Given the description of an element on the screen output the (x, y) to click on. 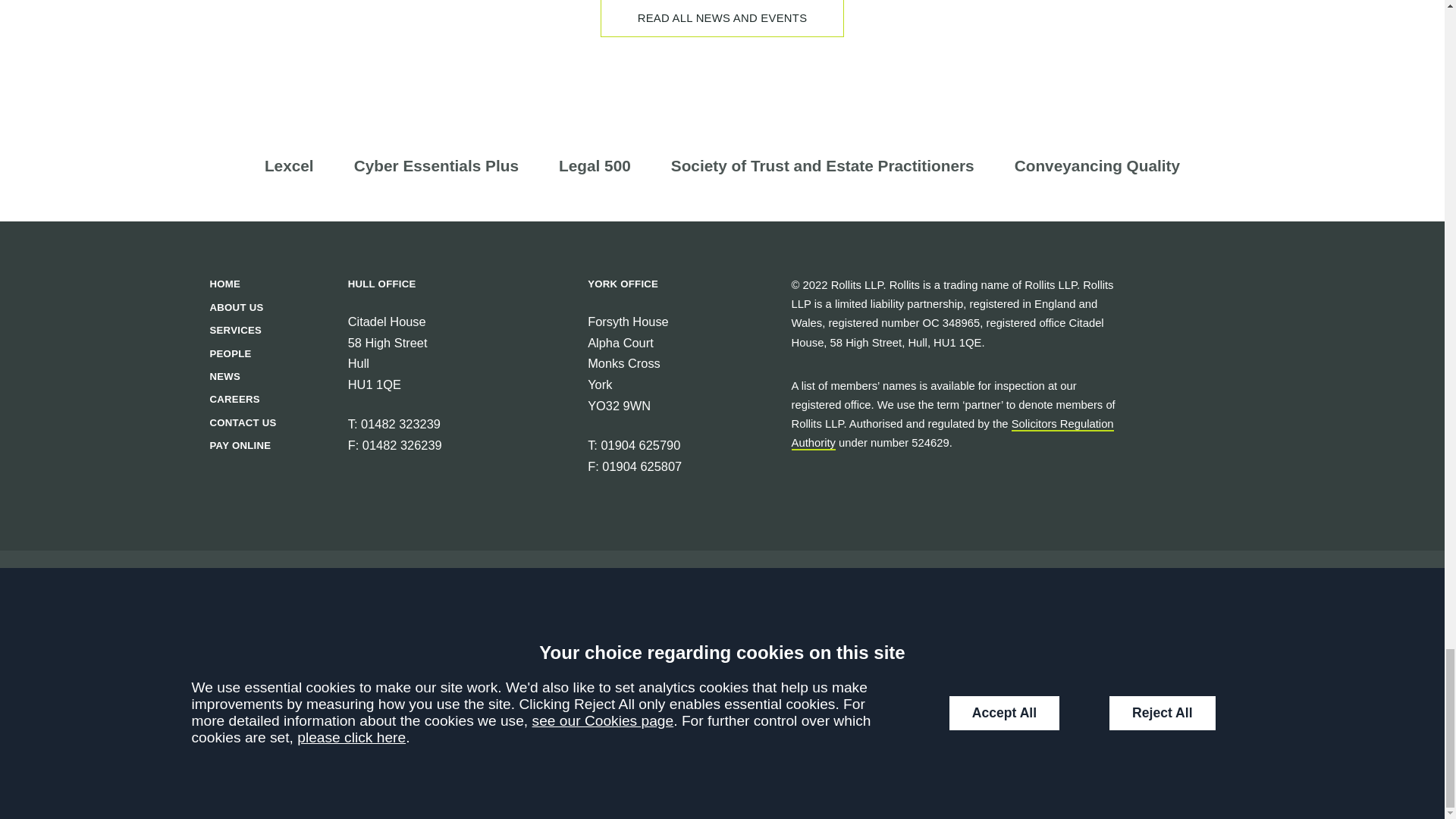
Search the site (345, 709)
